Given the description of an element on the screen output the (x, y) to click on. 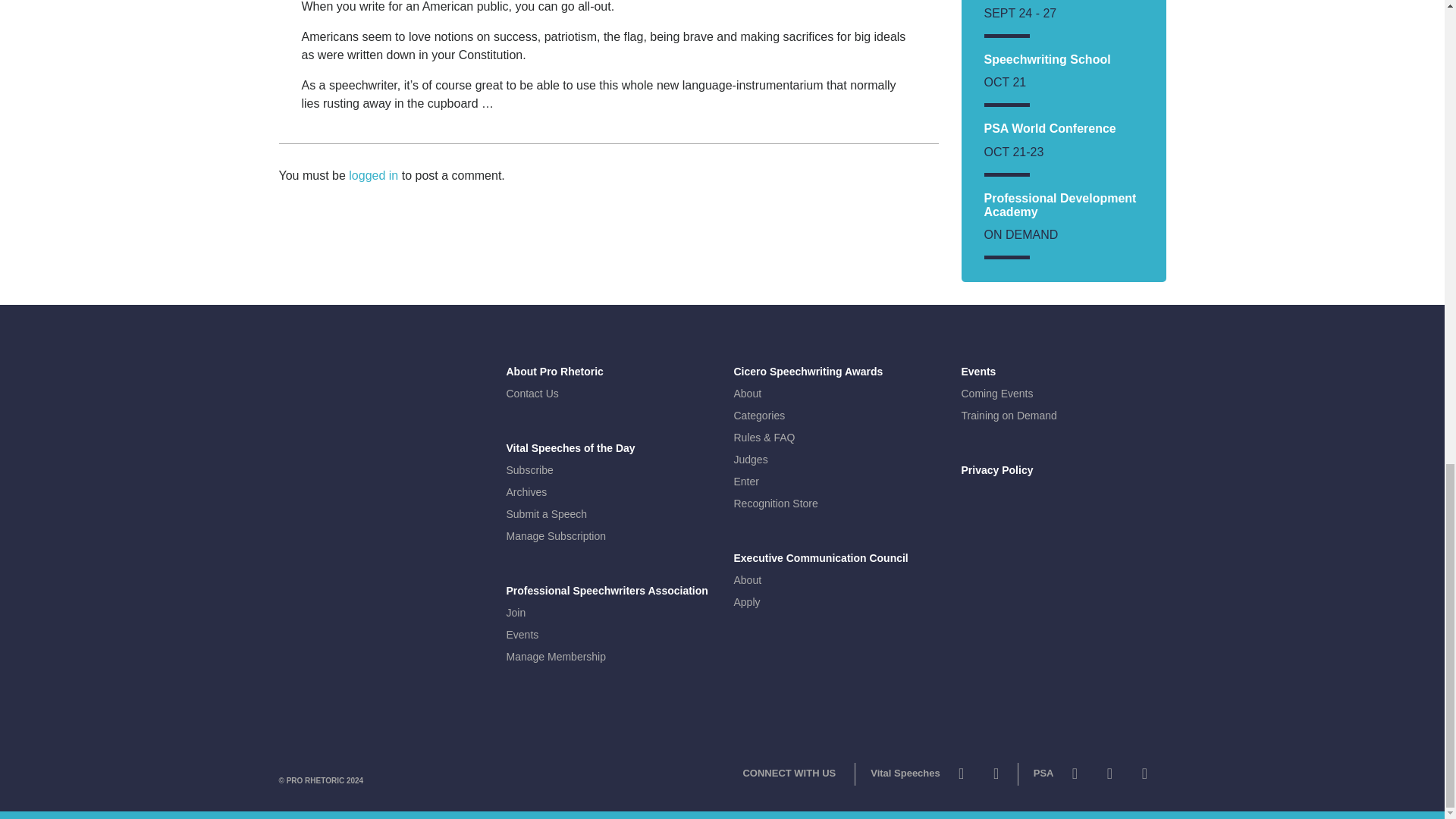
YouTube (1109, 776)
PSA World Conference (1050, 128)
Speechwriting School (1047, 59)
logged in (373, 174)
Twitter (961, 776)
Twitter (1074, 776)
Facebook (996, 776)
LinkedIn (1144, 776)
